Given the description of an element on the screen output the (x, y) to click on. 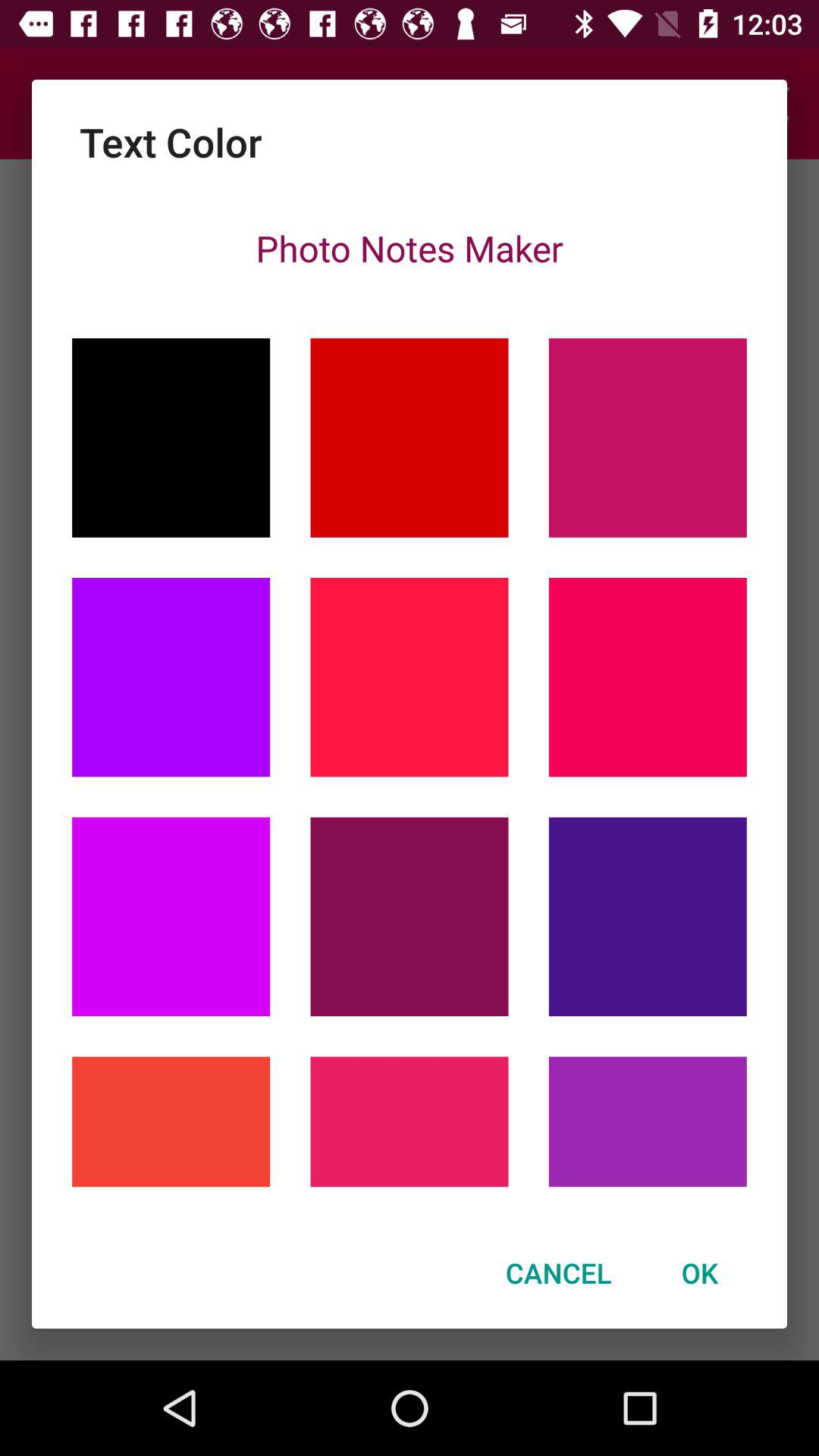
swipe until the ok (699, 1272)
